Given the description of an element on the screen output the (x, y) to click on. 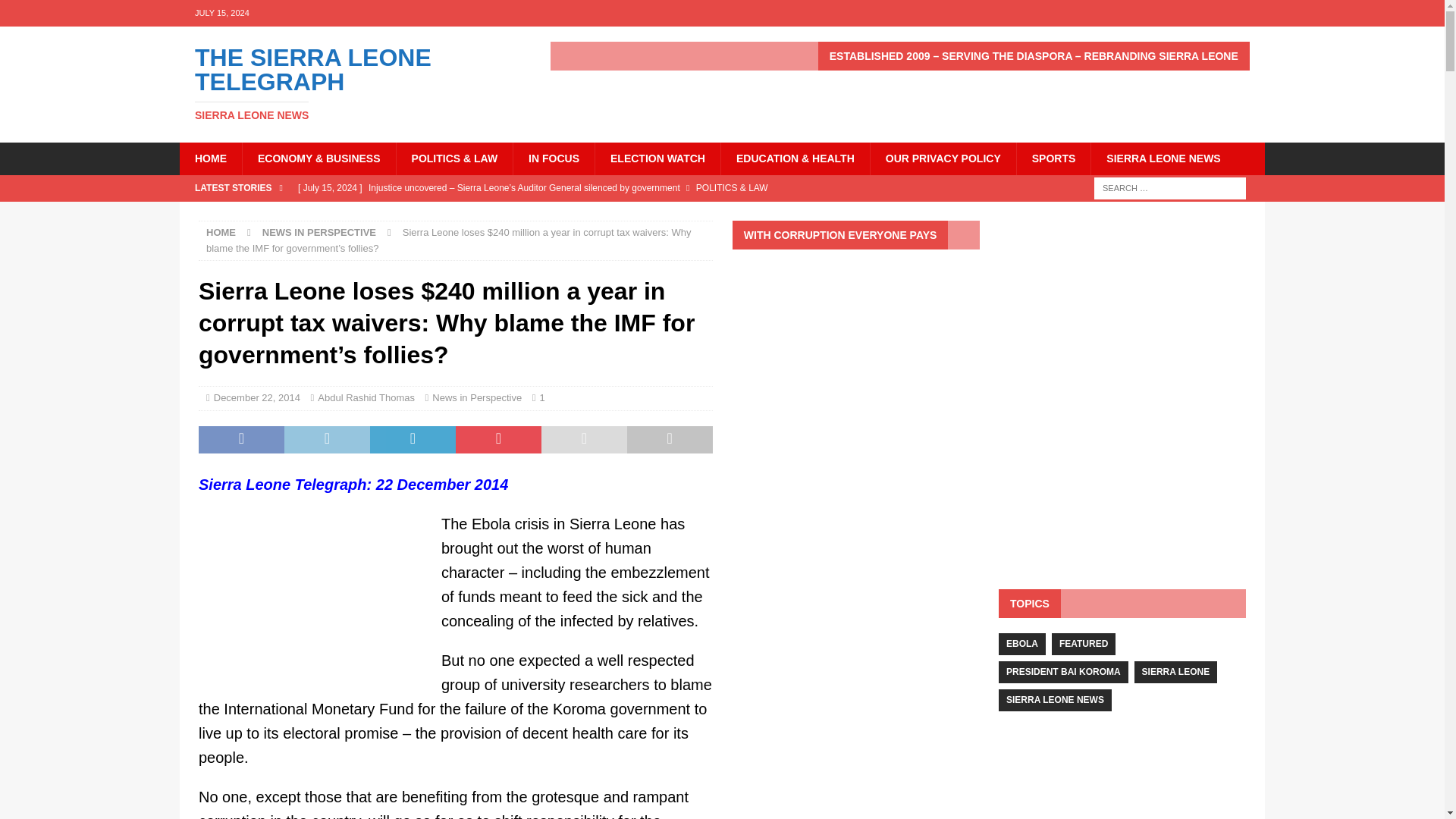
ELECTION WATCH (657, 158)
OUR PRIVACY POLICY (942, 158)
News in Perspective (476, 397)
The Sierra Leone Telegraph (351, 83)
HOME (351, 83)
Search (220, 232)
Abdul Rashid Thomas (56, 11)
IN FOCUS (365, 397)
HOME (553, 158)
December 22, 2014 (210, 158)
SIERRA LEONE NEWS (256, 397)
SPORTS (1162, 158)
NEWS IN PERSPECTIVE (1053, 158)
